Given the description of an element on the screen output the (x, y) to click on. 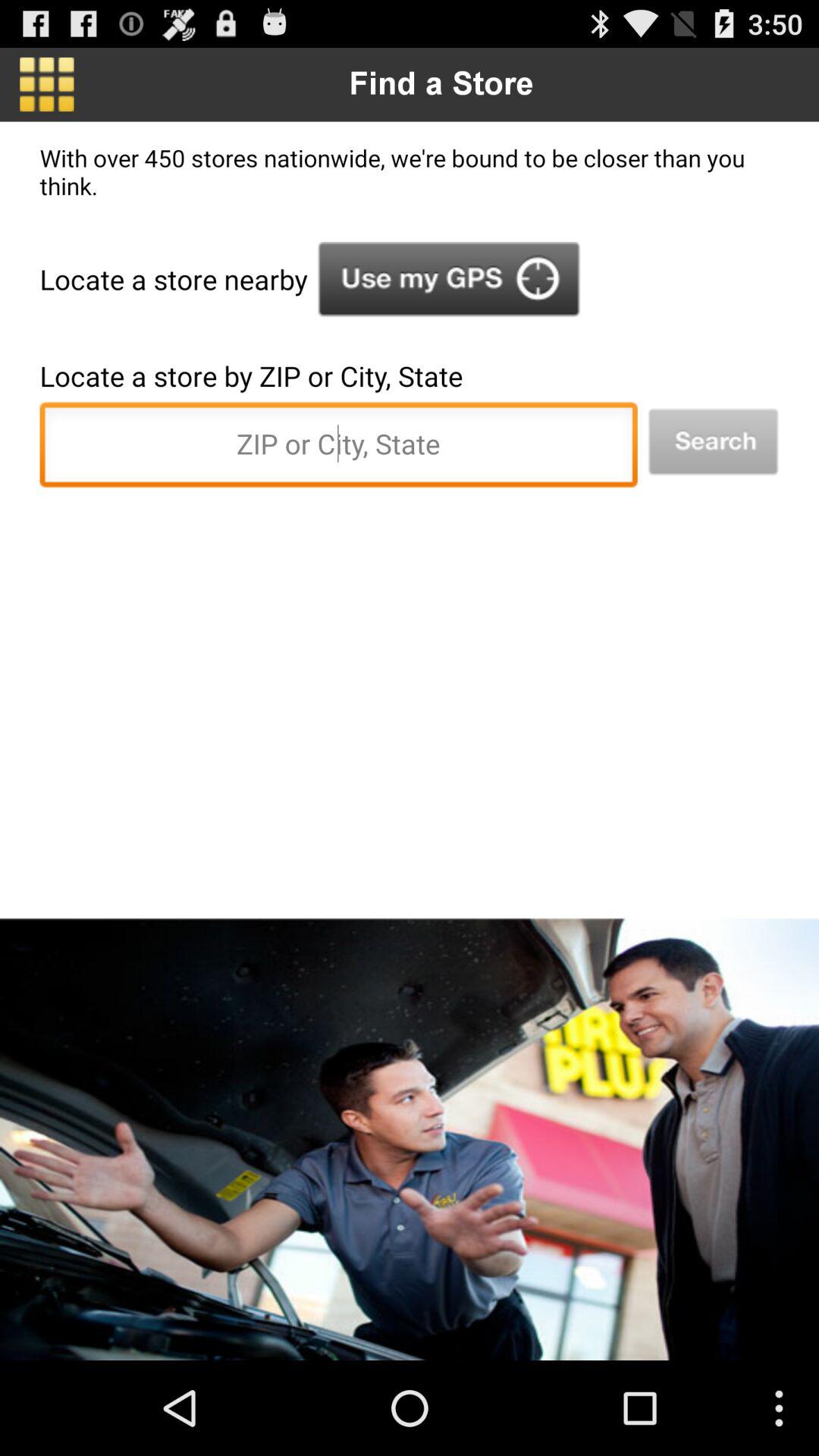
option to choose gps location (448, 279)
